Given the description of an element on the screen output the (x, y) to click on. 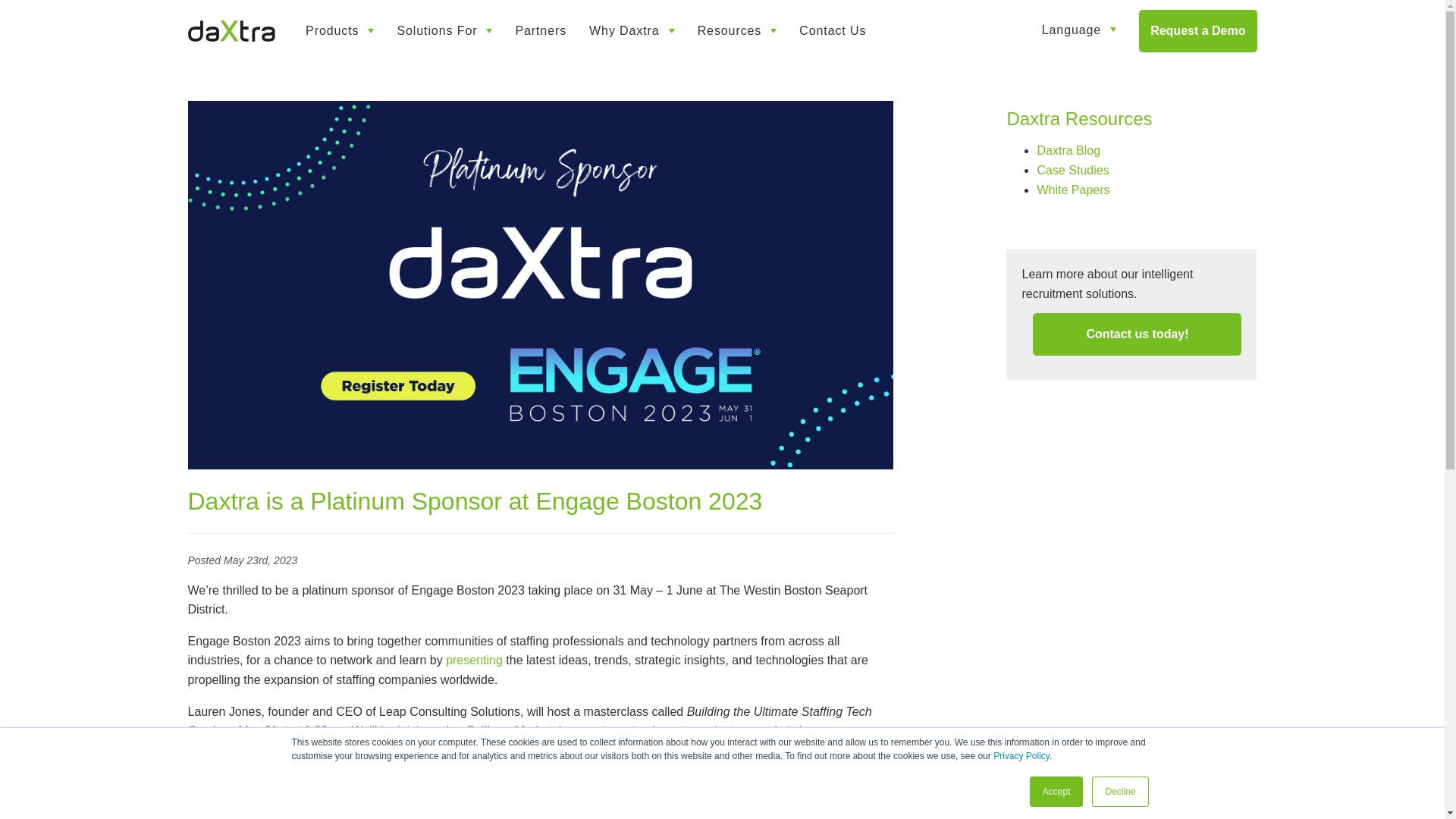
Privacy Policy (1020, 756)
Resources (737, 30)
Decline (1120, 791)
Request a Demo (1197, 30)
Why Daxtra (631, 30)
Accept (1056, 791)
Partners (540, 30)
Solutions For (444, 30)
Language (1078, 30)
Products (339, 30)
